Given the description of an element on the screen output the (x, y) to click on. 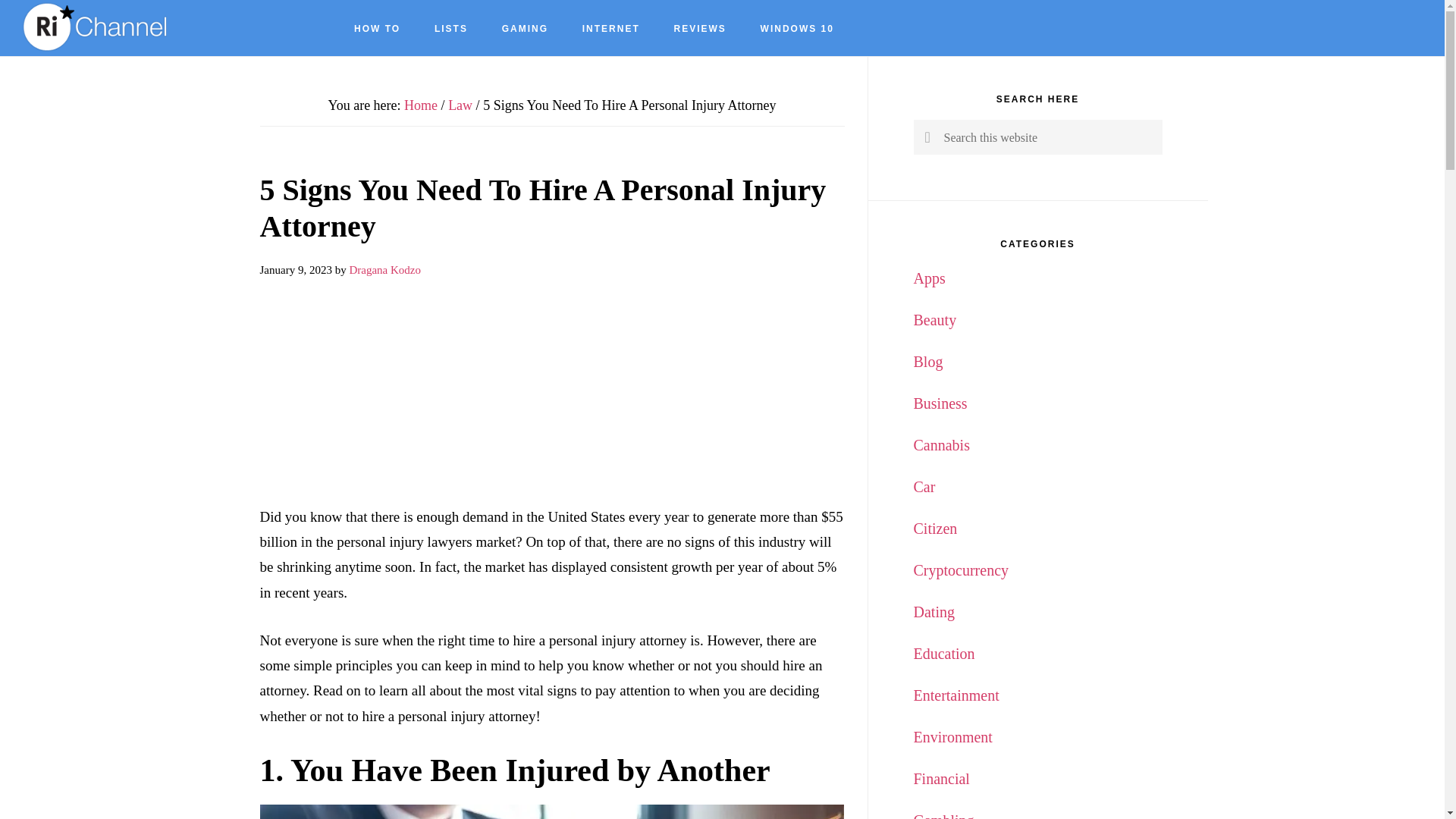
RICHANNEL (98, 26)
Dating (932, 611)
LISTS (451, 28)
Business (939, 402)
Environment (951, 736)
Education (943, 653)
WINDOWS 10 (796, 28)
Cannabis (940, 444)
Apps (928, 278)
REVIEWS (700, 28)
INTERNET (611, 28)
Citizen (934, 528)
Financial (940, 778)
Entertainment (955, 695)
Beauty (934, 320)
